Given the description of an element on the screen output the (x, y) to click on. 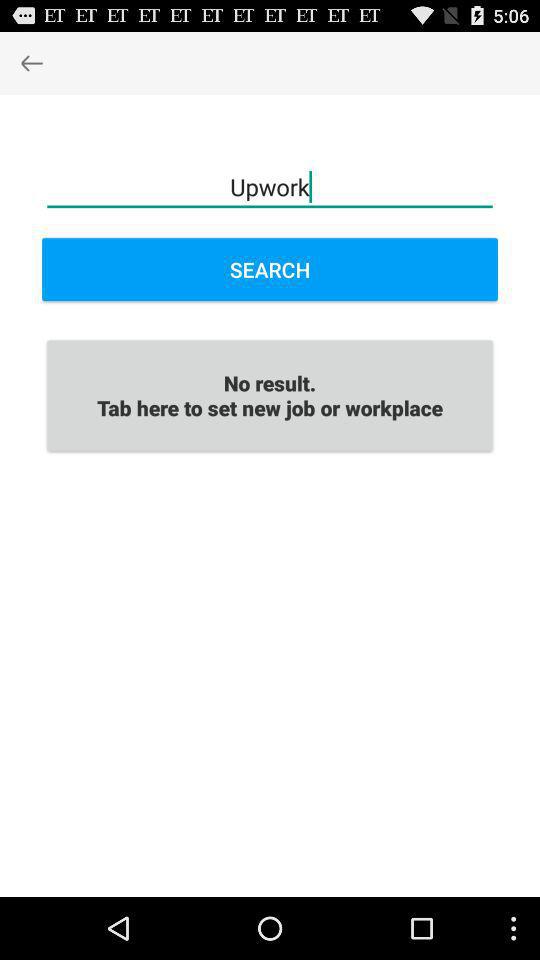
back (31, 62)
